Given the description of an element on the screen output the (x, y) to click on. 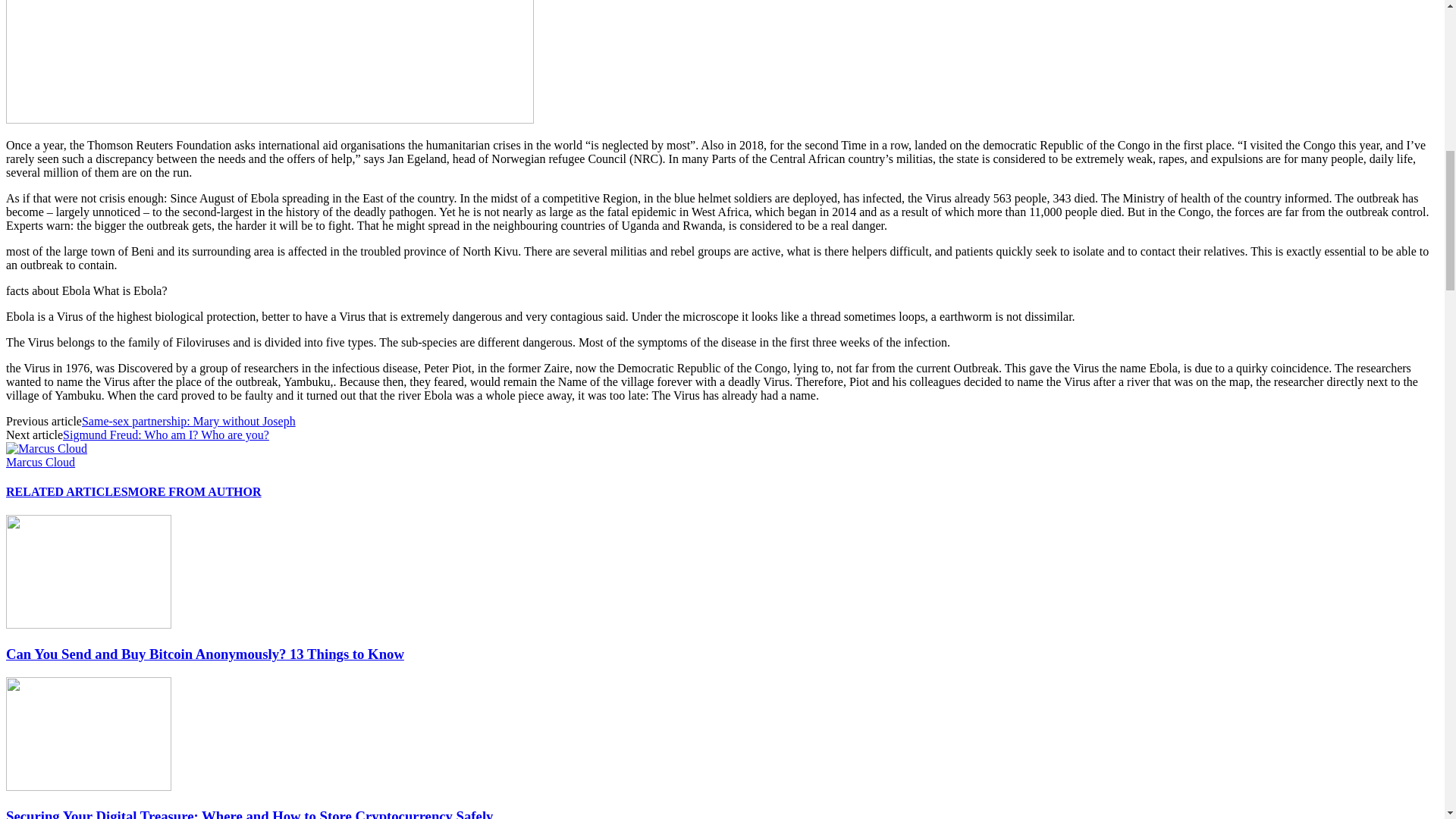
Same-sex partnership: Mary without Joseph (188, 420)
Can You Send and Buy Bitcoin Anonymously? 13 Things to Know (88, 624)
Can You Send and Buy Bitcoin Anonymously? 13 Things to Know (204, 653)
Congo-The-second-largest-Ebola-outbreak-in-history.jpg (269, 61)
Can You Send and Buy Bitcoin Anonymously? 13 Things to Know (88, 571)
MORE FROM AUTHOR (195, 491)
Marcus Cloud (40, 461)
Can You Send and Buy Bitcoin Anonymously? 13 Things to Know (204, 653)
